Given the description of an element on the screen output the (x, y) to click on. 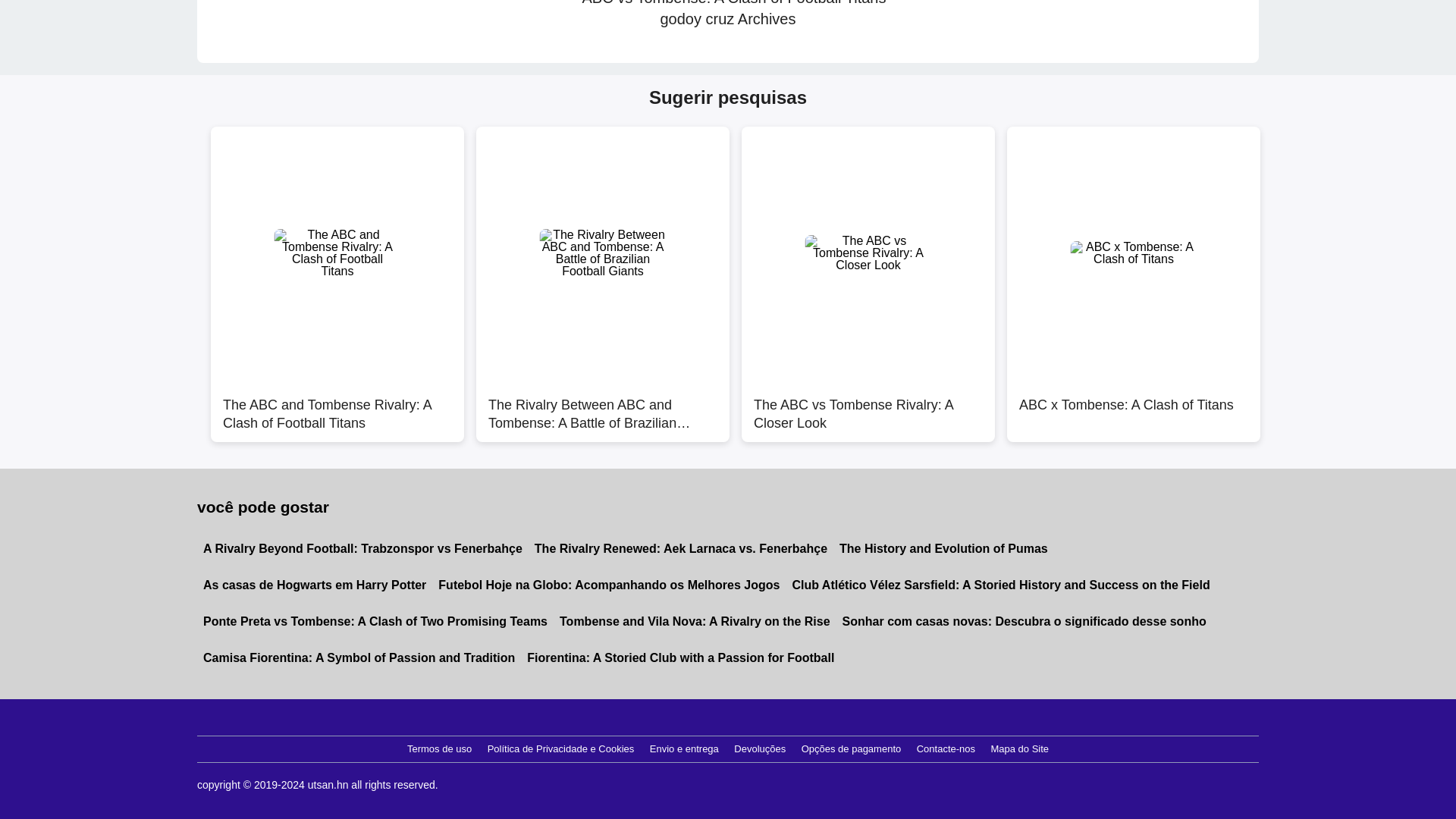
Sonhar com casas novas: Descubra o significado desse sonho (1023, 621)
Tombense and Vila Nova: A Rivalry on the Rise (694, 621)
The ABC vs Tombense Rivalry: A Closer Look (867, 406)
Contacte-nos (946, 749)
As casas de Hogwarts em Harry Potter (314, 585)
Fiorentina: A Storied Club with a Passion for Football (680, 657)
Mapa do Site (1019, 749)
Camisa Fiorentina: A Symbol of Passion and Tradition (358, 657)
The ABC and Tombense Rivalry: A Clash of Football Titans (337, 406)
Envio e entrega (684, 749)
ABC x Tombense: A Clash of Titans (1133, 406)
The History and Evolution of Pumas (943, 548)
Termos de uso (439, 749)
Futebol Hoje na Globo: Acompanhando os Melhores Jogos (609, 585)
